Given the description of an element on the screen output the (x, y) to click on. 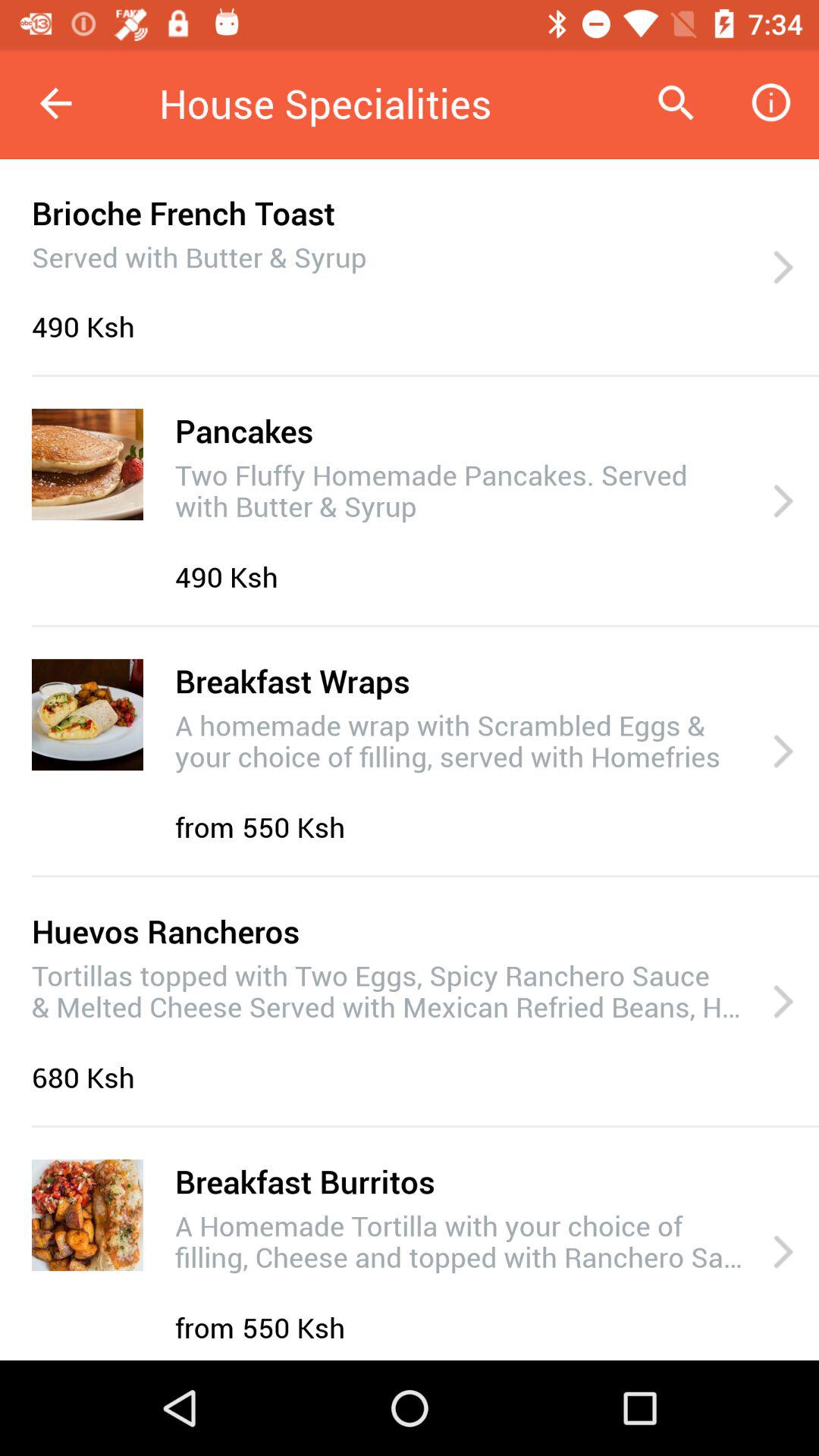
tap 680 ksh item (86, 1076)
